Given the description of an element on the screen output the (x, y) to click on. 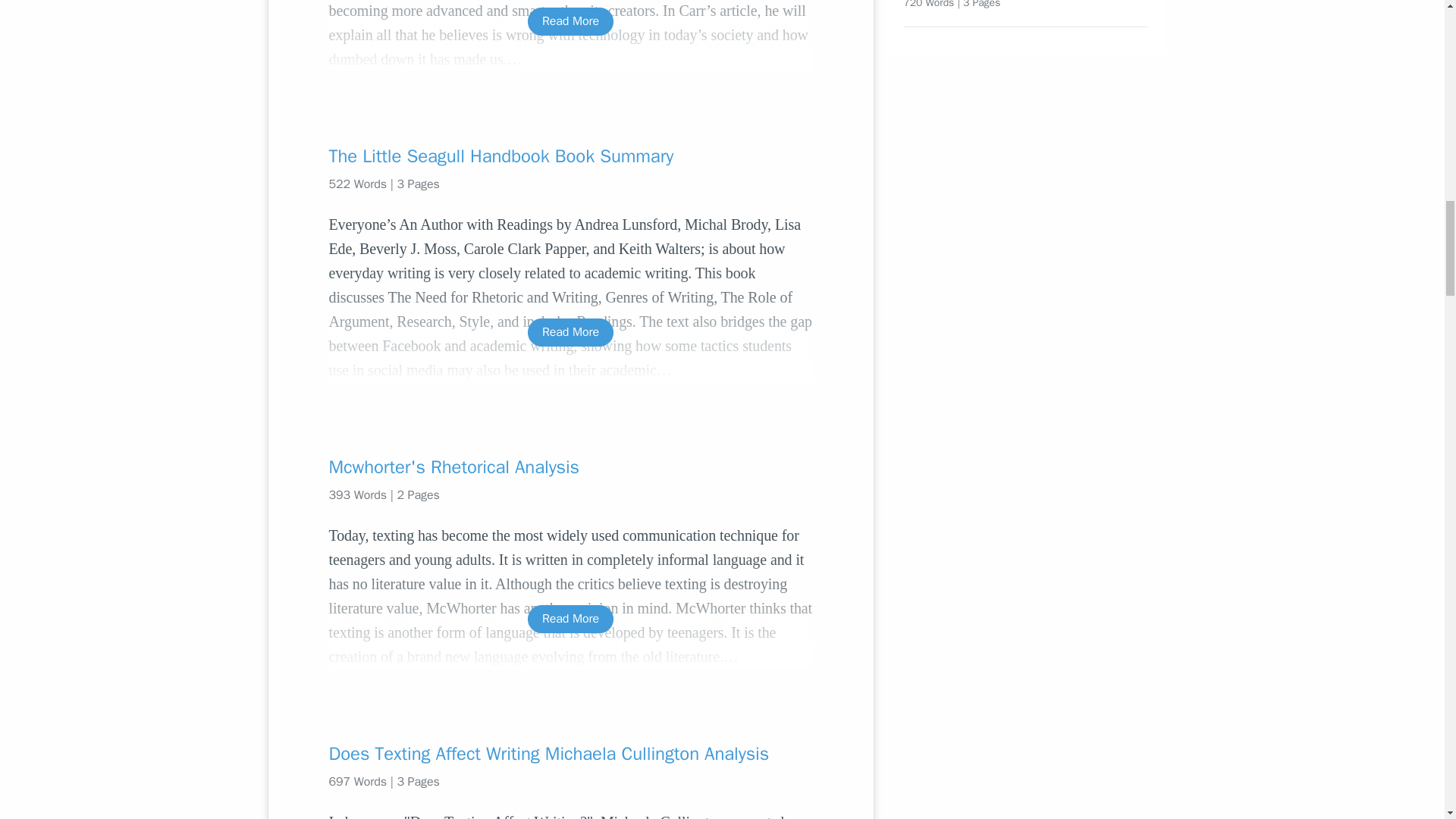
Read More (569, 21)
Read More (569, 332)
Read More (569, 619)
The Little Seagull Handbook Book Summary (570, 156)
Does Texting Affect Writing Michaela Cullington Analysis (570, 753)
Mcwhorter's Rhetorical Analysis (570, 467)
